Given the description of an element on the screen output the (x, y) to click on. 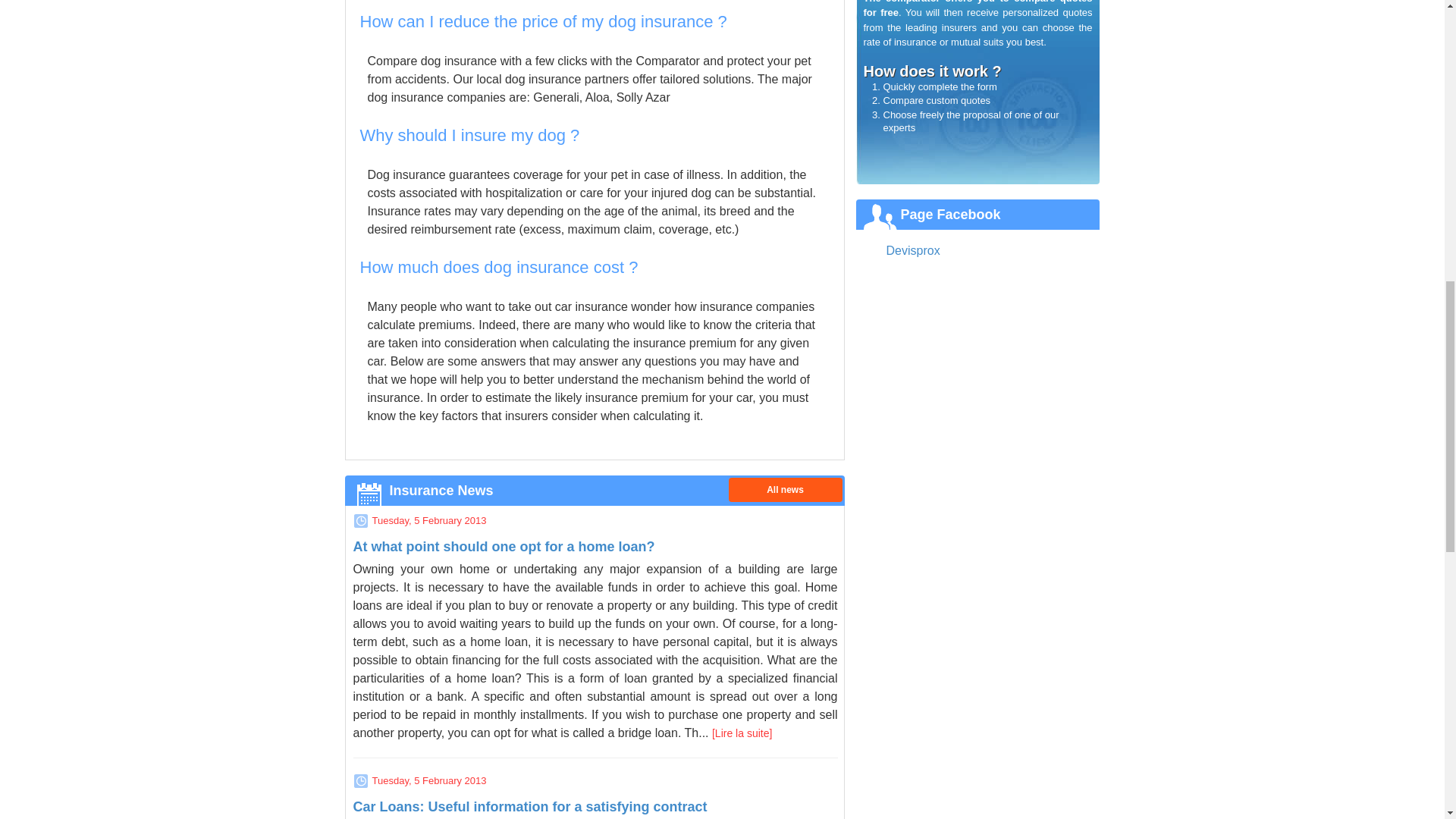
All news (784, 489)
Car Loans: Useful information for a satisfying contract (530, 806)
At what point should one opt for a home loan? (504, 546)
Car Loans: Useful information for a satisfying contract (530, 806)
At what point should one opt for a home loan? (504, 546)
Devisprox (912, 250)
Lire la suite (741, 733)
At what point should one opt for a home loan? (741, 733)
